Given the description of an element on the screen output the (x, y) to click on. 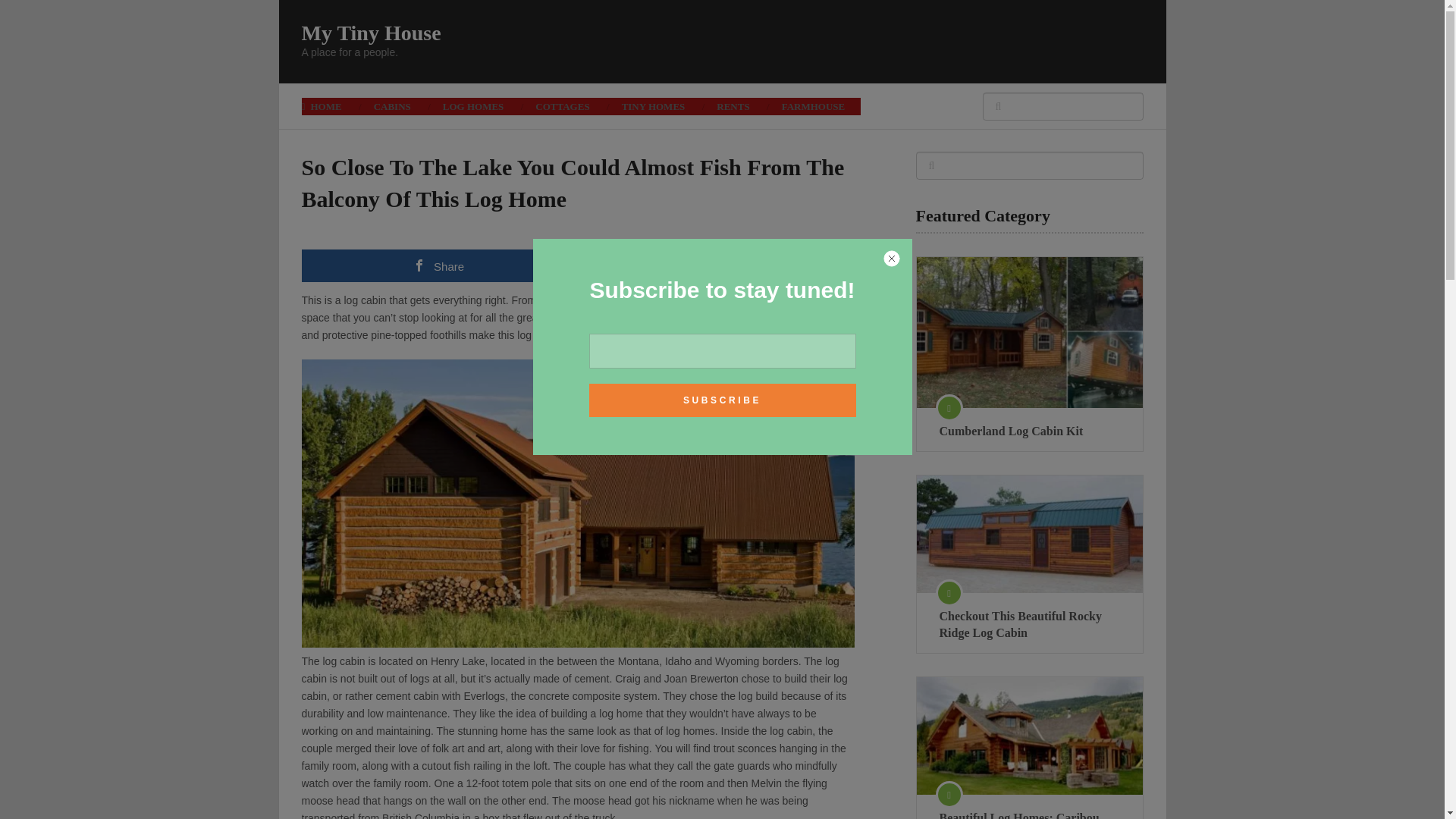
HOME (329, 105)
CABINS (392, 105)
Cumberland Log Cabin Kit (1029, 431)
FARMHOUSE (813, 105)
TINY HOMES (653, 105)
Subscribe (722, 400)
Cumberland Log Cabin Kit (1029, 431)
RENTS (732, 105)
LOG HOMES (472, 105)
Beautiful Log Homes: Caribou Creek Log And Timber (1028, 735)
